Given the description of an element on the screen output the (x, y) to click on. 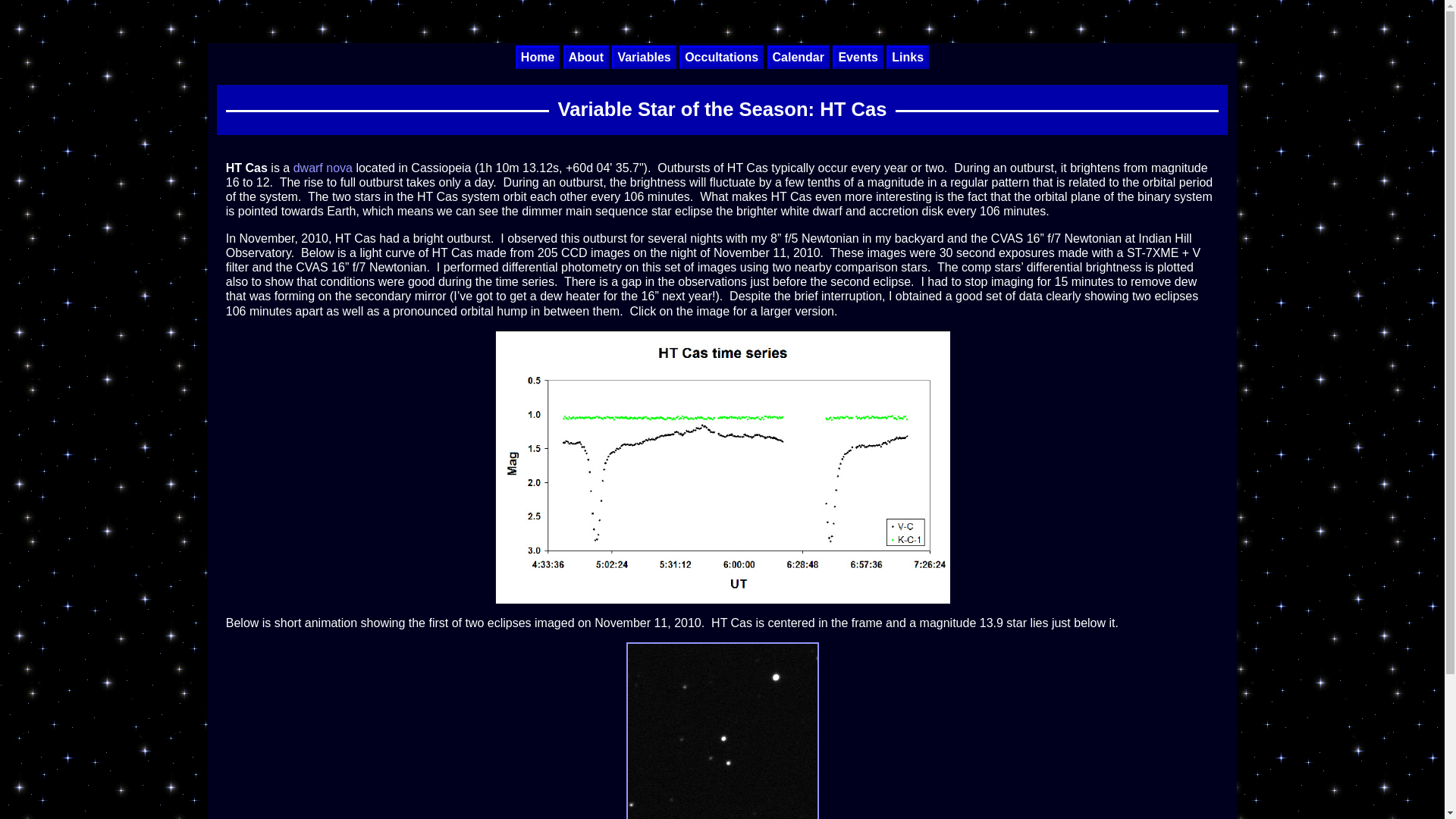
Events (857, 56)
Home (537, 56)
dwarf nova (323, 167)
About (585, 56)
Variables (643, 56)
Occultations (720, 56)
Calendar (798, 56)
Links (907, 56)
